Given the description of an element on the screen output the (x, y) to click on. 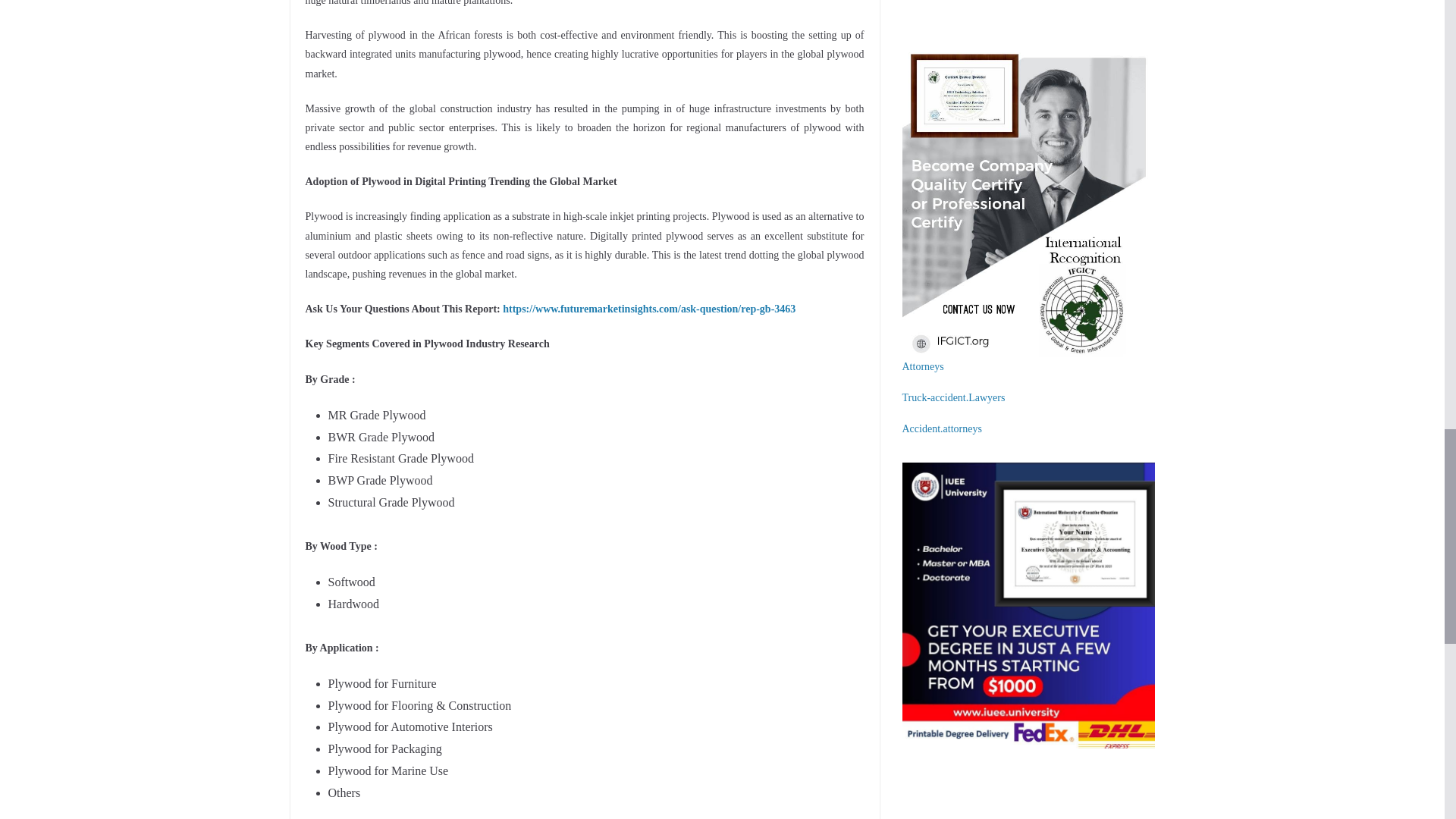
Truck-accident.Lawyers (954, 397)
Attorneys (922, 366)
Accident.attorneys (941, 428)
